Given the description of an element on the screen output the (x, y) to click on. 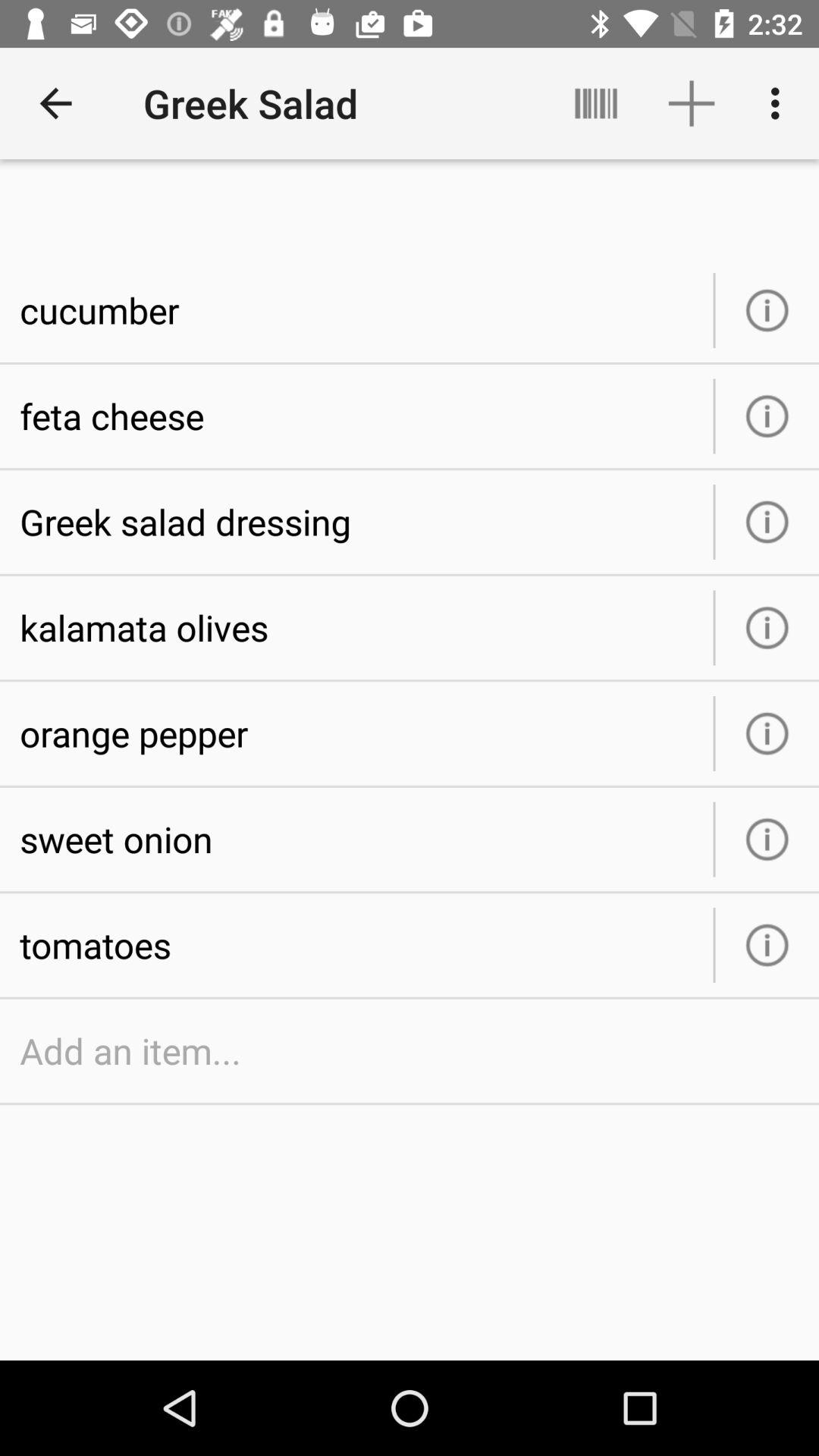
choose item next to the greek salad (55, 103)
